Given the description of an element on the screen output the (x, y) to click on. 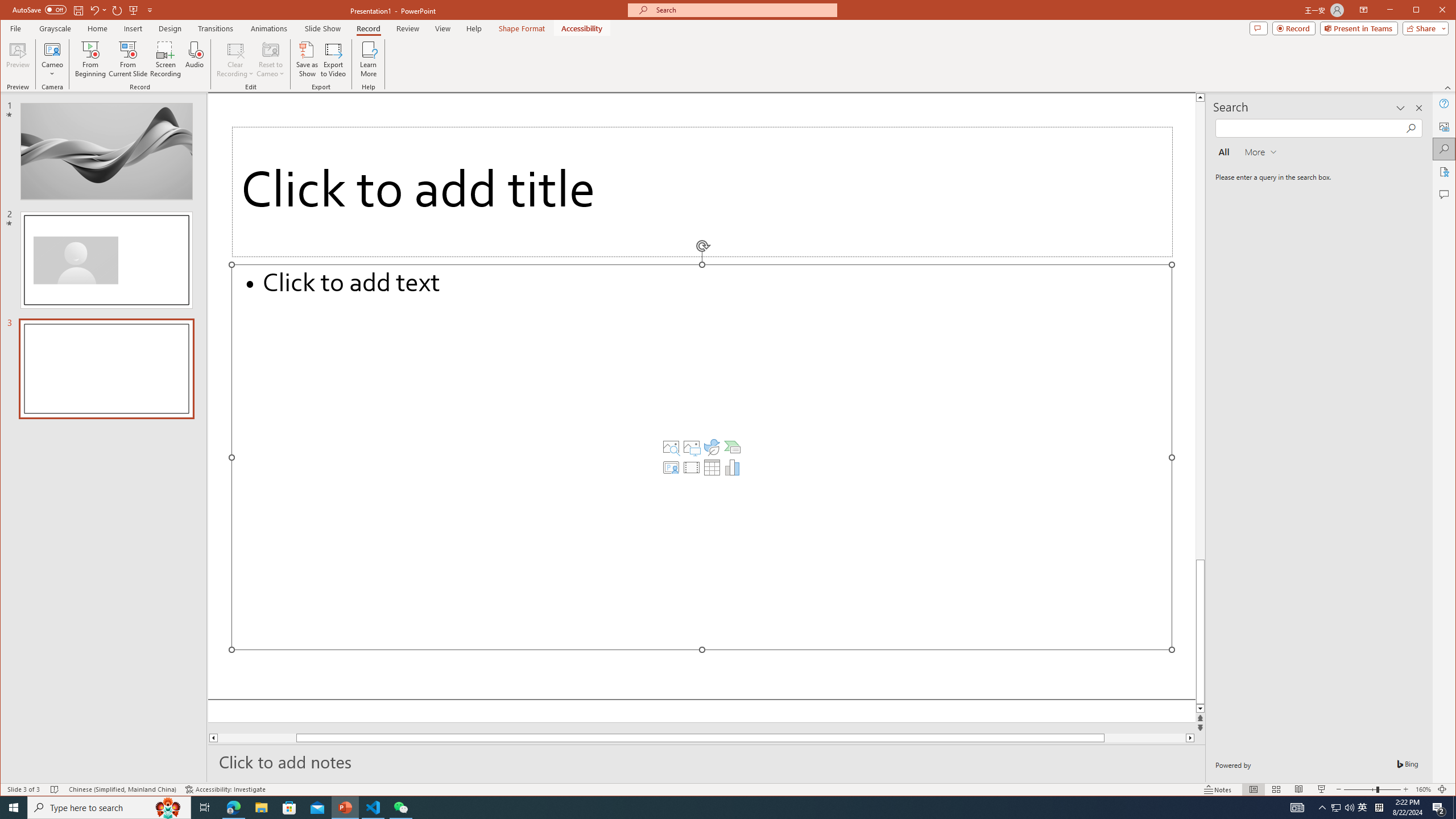
Export to Video (333, 59)
From Beginning... (90, 59)
From Current Slide... (127, 59)
Content Placeholder (701, 457)
